Given the description of an element on the screen output the (x, y) to click on. 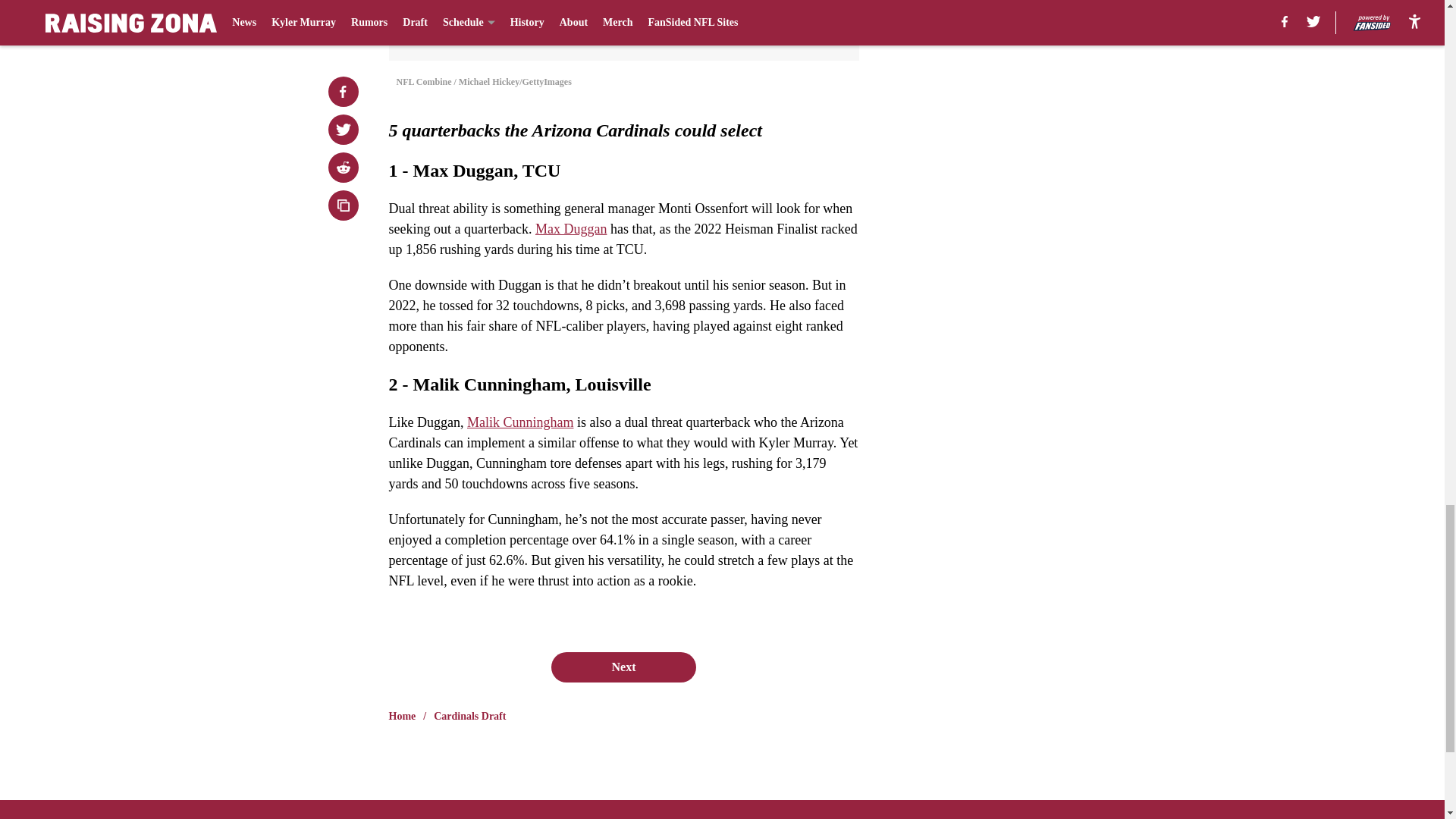
Home (401, 716)
Next (622, 666)
Malik Cunningham (520, 421)
Max Duggan (571, 228)
Cardinals Draft (469, 716)
